Given the description of an element on the screen output the (x, y) to click on. 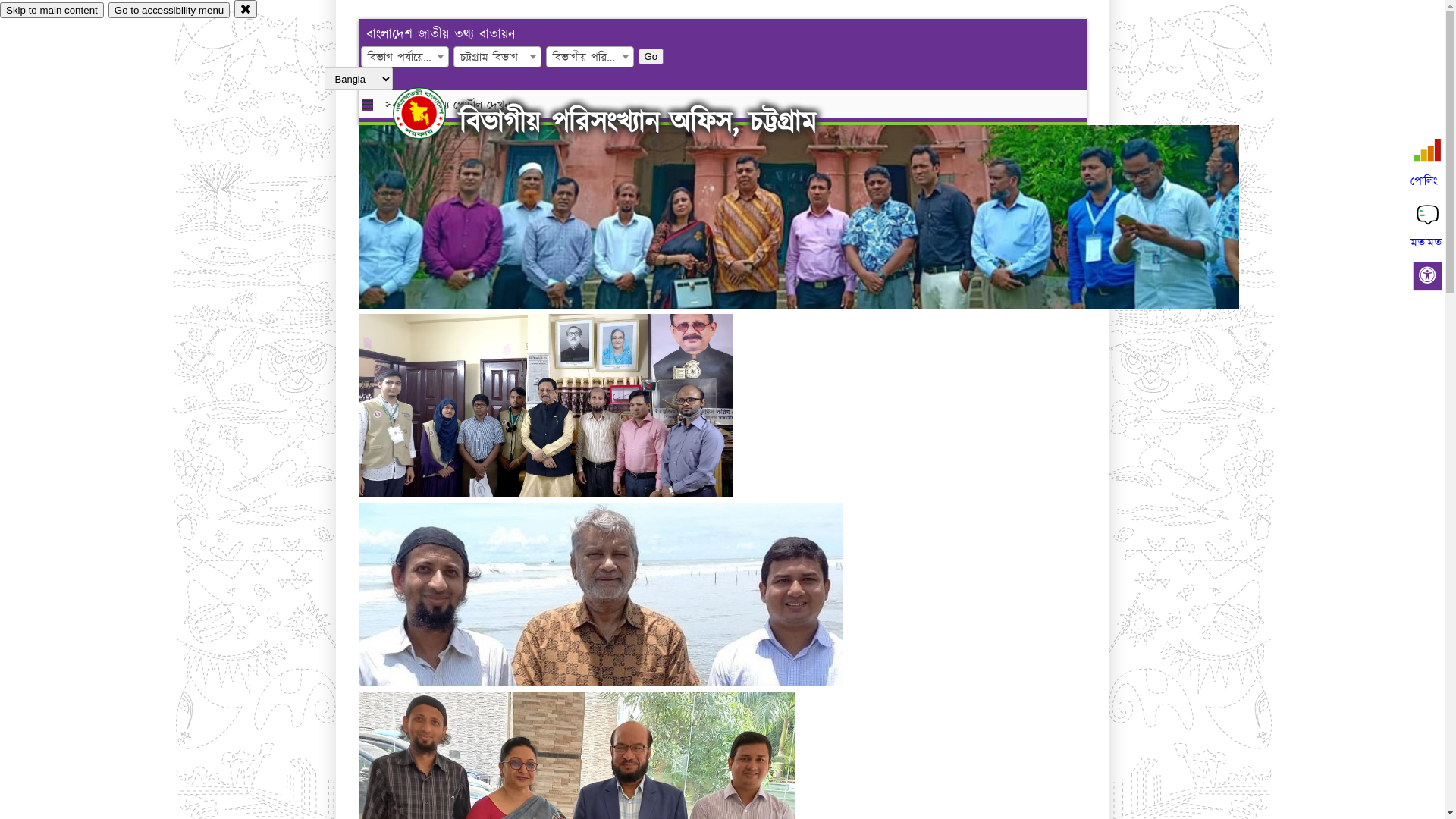

                
             Element type: hover (431, 112)
Go to accessibility menu Element type: text (168, 10)
Go Element type: text (651, 56)
close Element type: hover (245, 9)
Skip to main content Element type: text (51, 10)
